Given the description of an element on the screen output the (x, y) to click on. 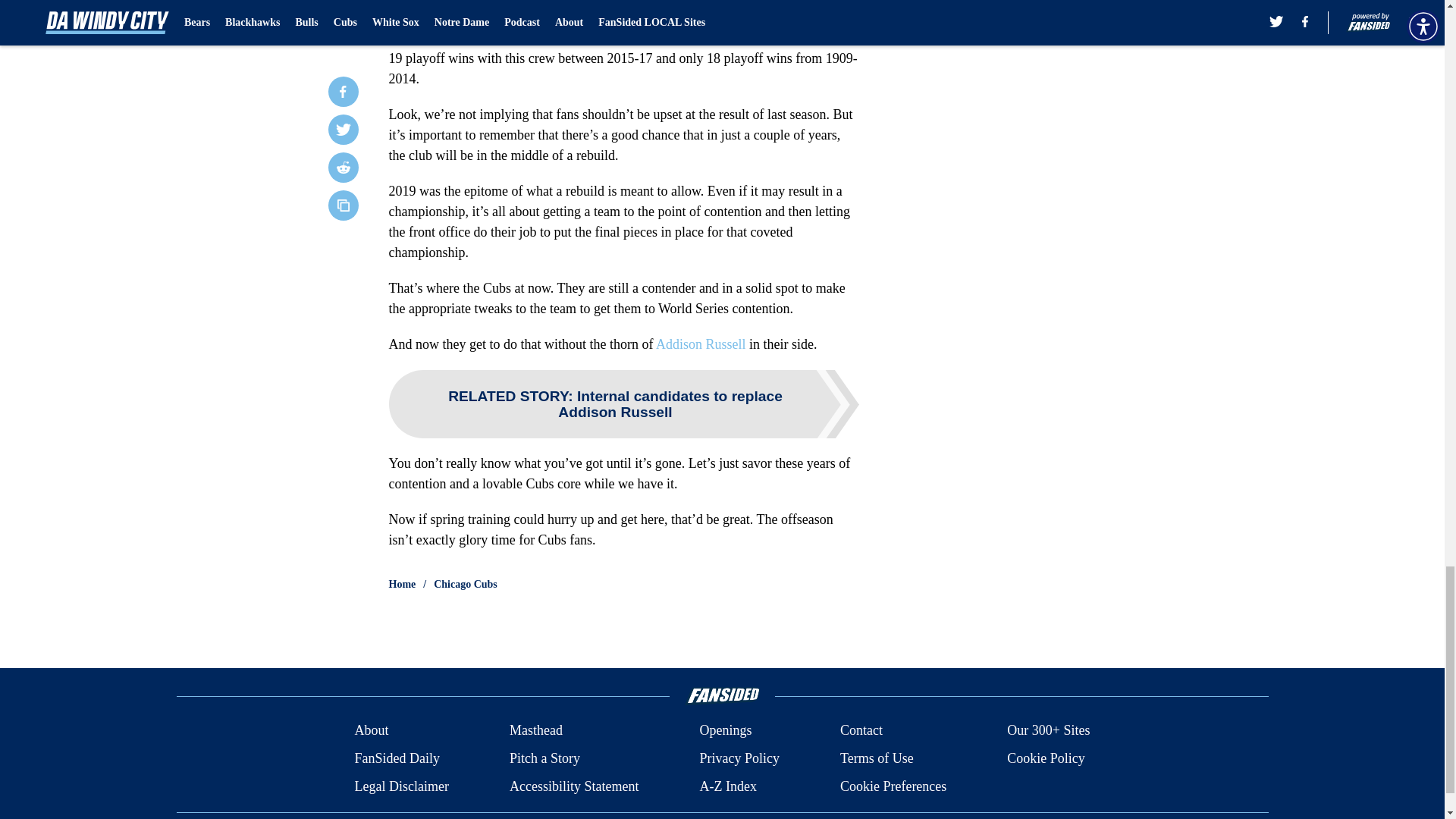
Chicago Cubs (465, 584)
About (370, 730)
Legal Disclaimer (400, 786)
FanSided Daily (396, 758)
Home (401, 584)
Addison Russell (700, 344)
Cookie Policy (1045, 758)
Privacy Policy (738, 758)
Contact (861, 730)
